Given the description of an element on the screen output the (x, y) to click on. 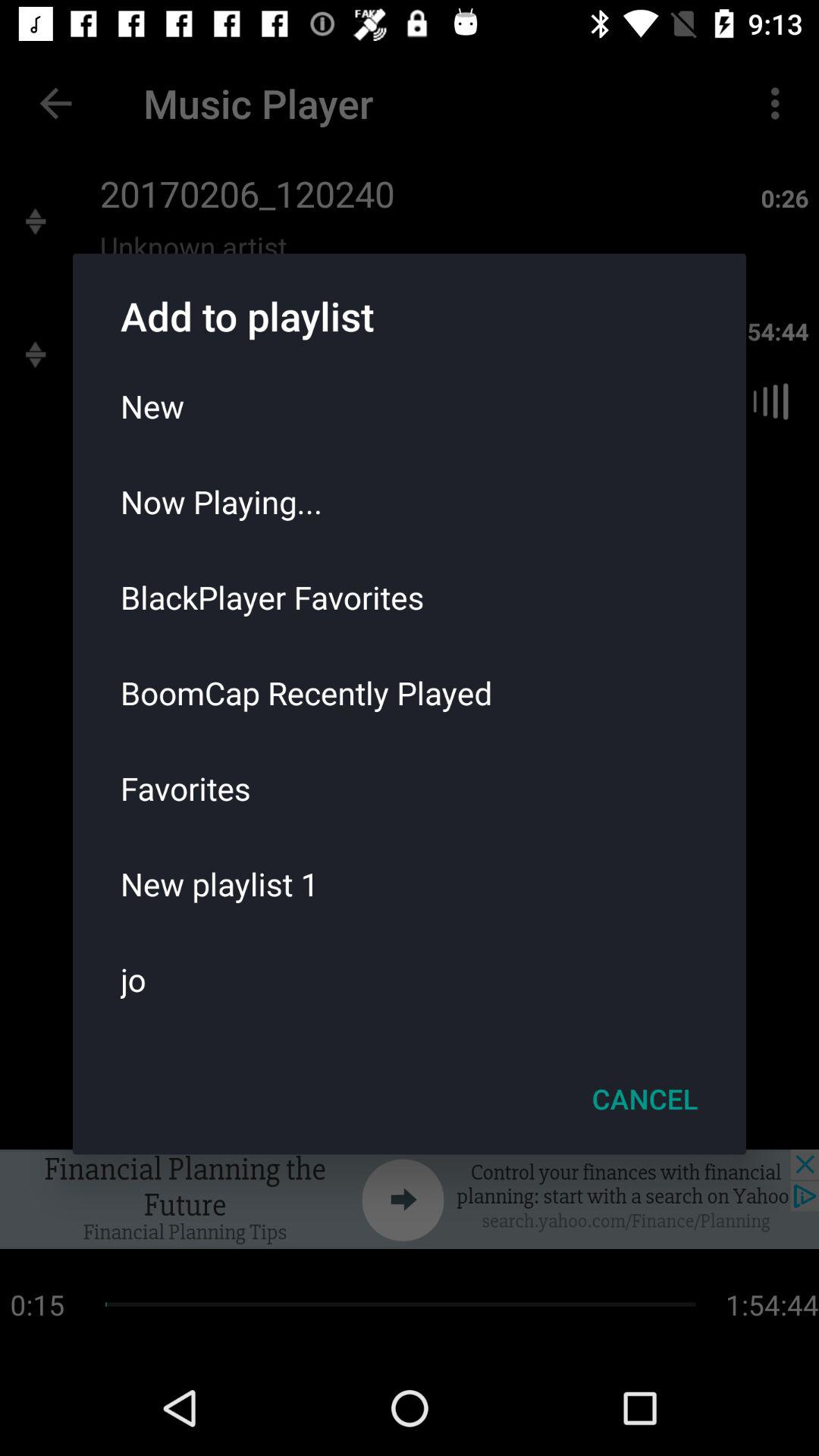
launch the now playing... (409, 501)
